Given the description of an element on the screen output the (x, y) to click on. 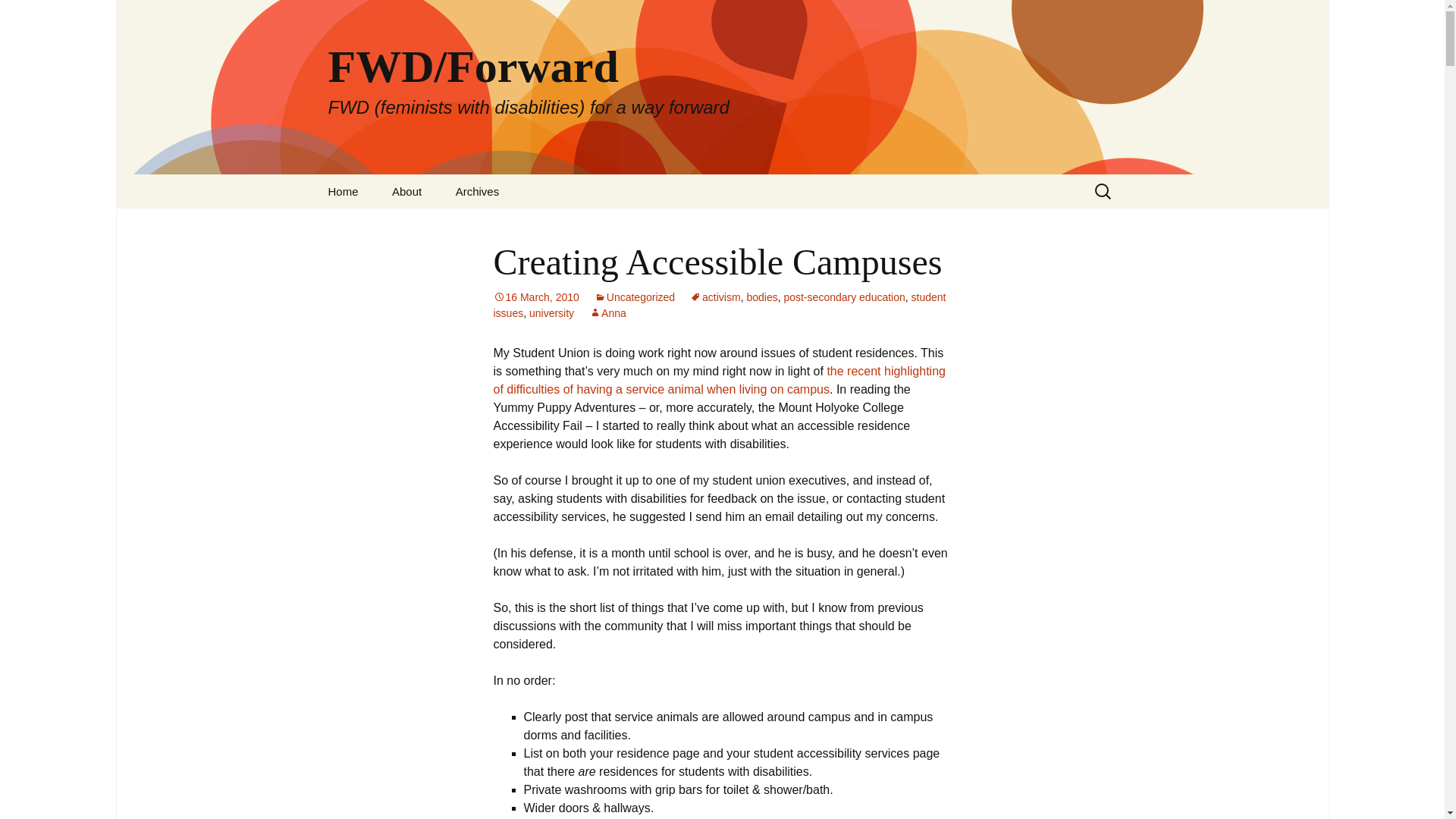
Search (18, 15)
16 March, 2010 (535, 297)
Home (342, 191)
post-secondary education (843, 297)
bodies (761, 297)
Permalink to Creating Accessible Campuses (535, 297)
student issues (718, 305)
Archives (478, 191)
About (406, 191)
Uncategorized (634, 297)
university (551, 313)
activism (715, 297)
View all posts by Anna (607, 313)
